Given the description of an element on the screen output the (x, y) to click on. 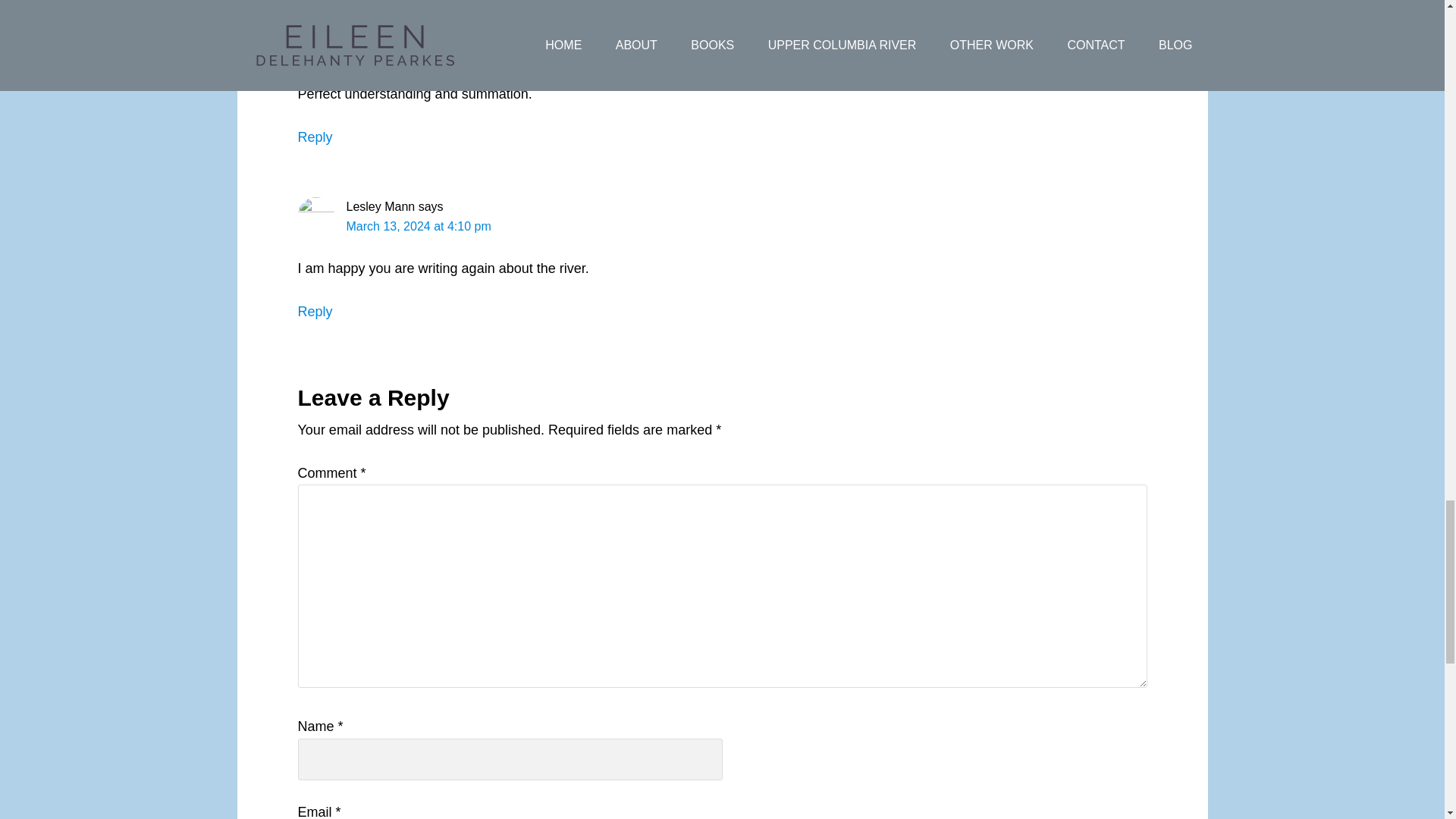
March 13, 2024 at 12:12 pm (421, 51)
Reply (314, 136)
March 13, 2024 at 4:10 pm (418, 226)
Reply (314, 311)
